Given the description of an element on the screen output the (x, y) to click on. 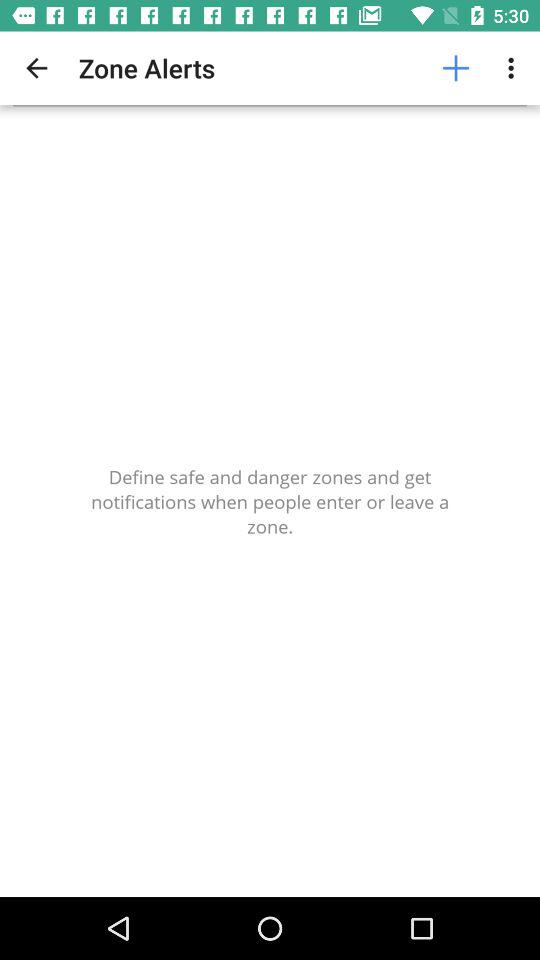
zone alerts (270, 501)
